Given the description of an element on the screen output the (x, y) to click on. 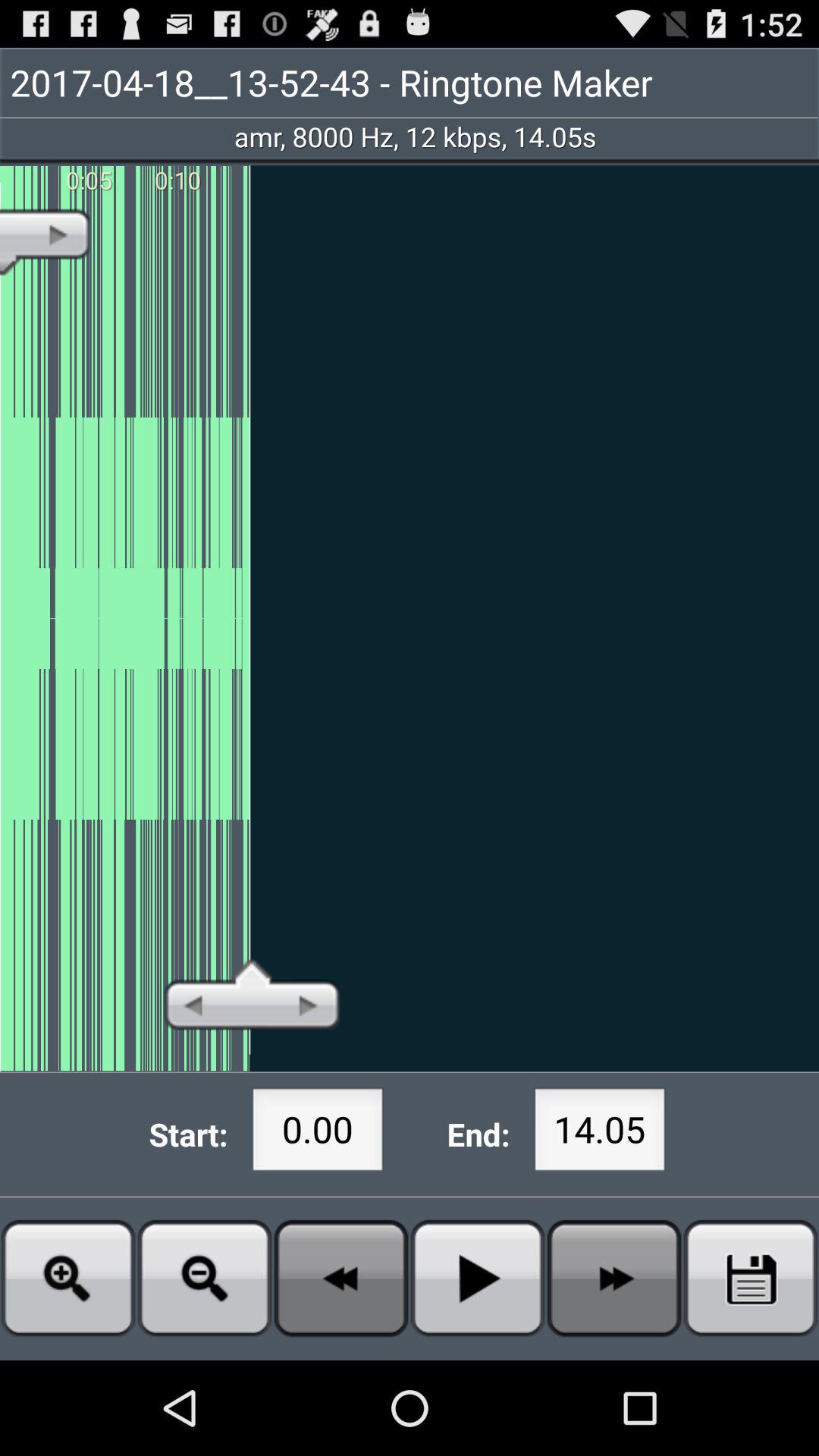
press play (477, 1278)
